Given the description of an element on the screen output the (x, y) to click on. 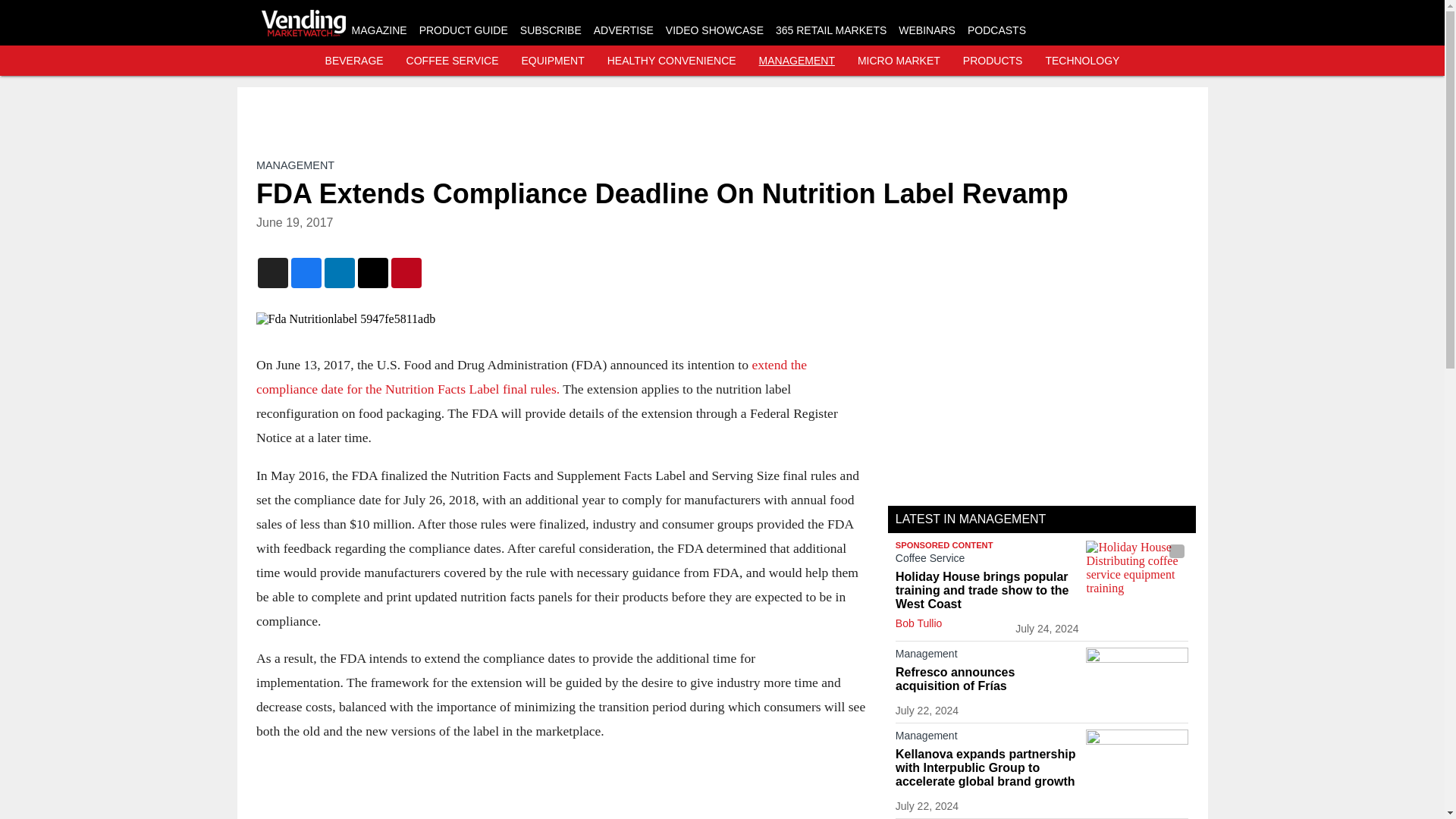
PODCASTS (997, 30)
MANAGEMENT (796, 60)
LATEST IN MANAGEMENT (970, 518)
Management (986, 656)
EQUIPMENT (553, 60)
MANAGEMENT (295, 164)
PRODUCT GUIDE (463, 30)
Fda Nutritionlabel 5947fe5811adb (560, 318)
COFFEE SERVICE (452, 60)
Management (986, 738)
TECHNOLOGY (1082, 60)
HEALTHY CONVENIENCE (671, 60)
MICRO MARKET (898, 60)
